Given the description of an element on the screen output the (x, y) to click on. 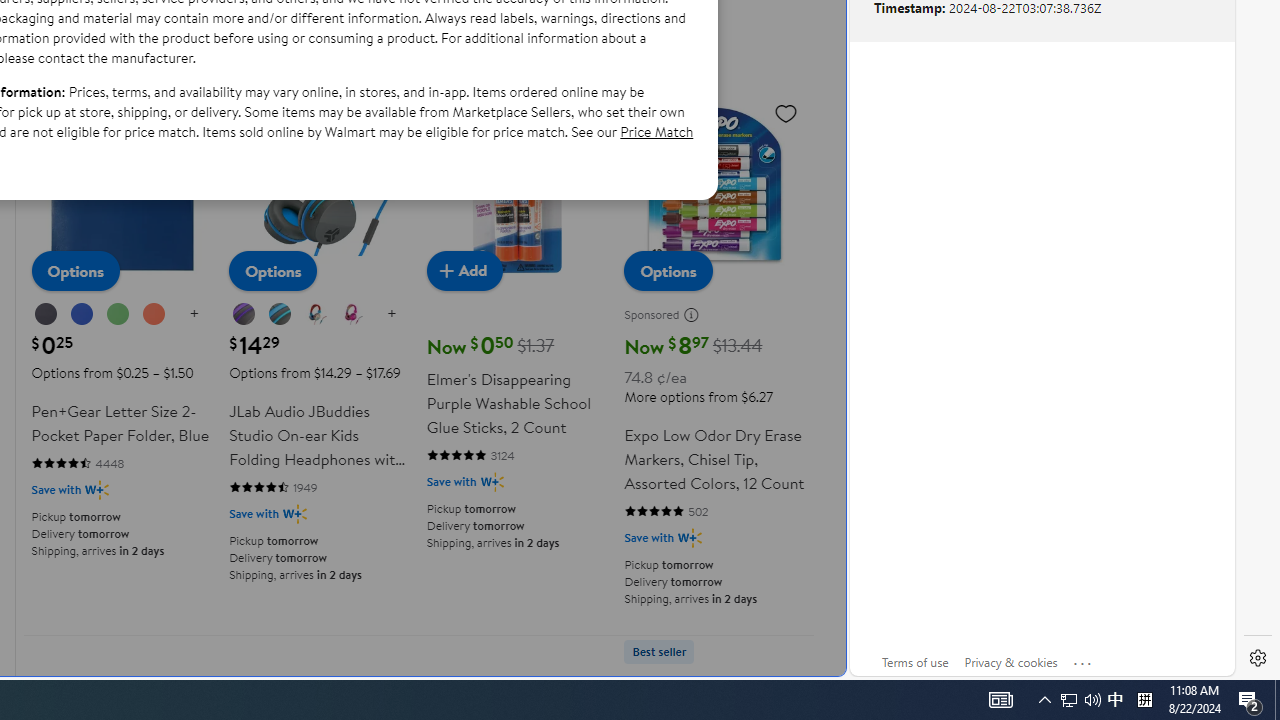
Privacy & cookies (1010, 662)
Terms of use (914, 662)
Click here for troubleshooting information (1083, 659)
